Given the description of an element on the screen output the (x, y) to click on. 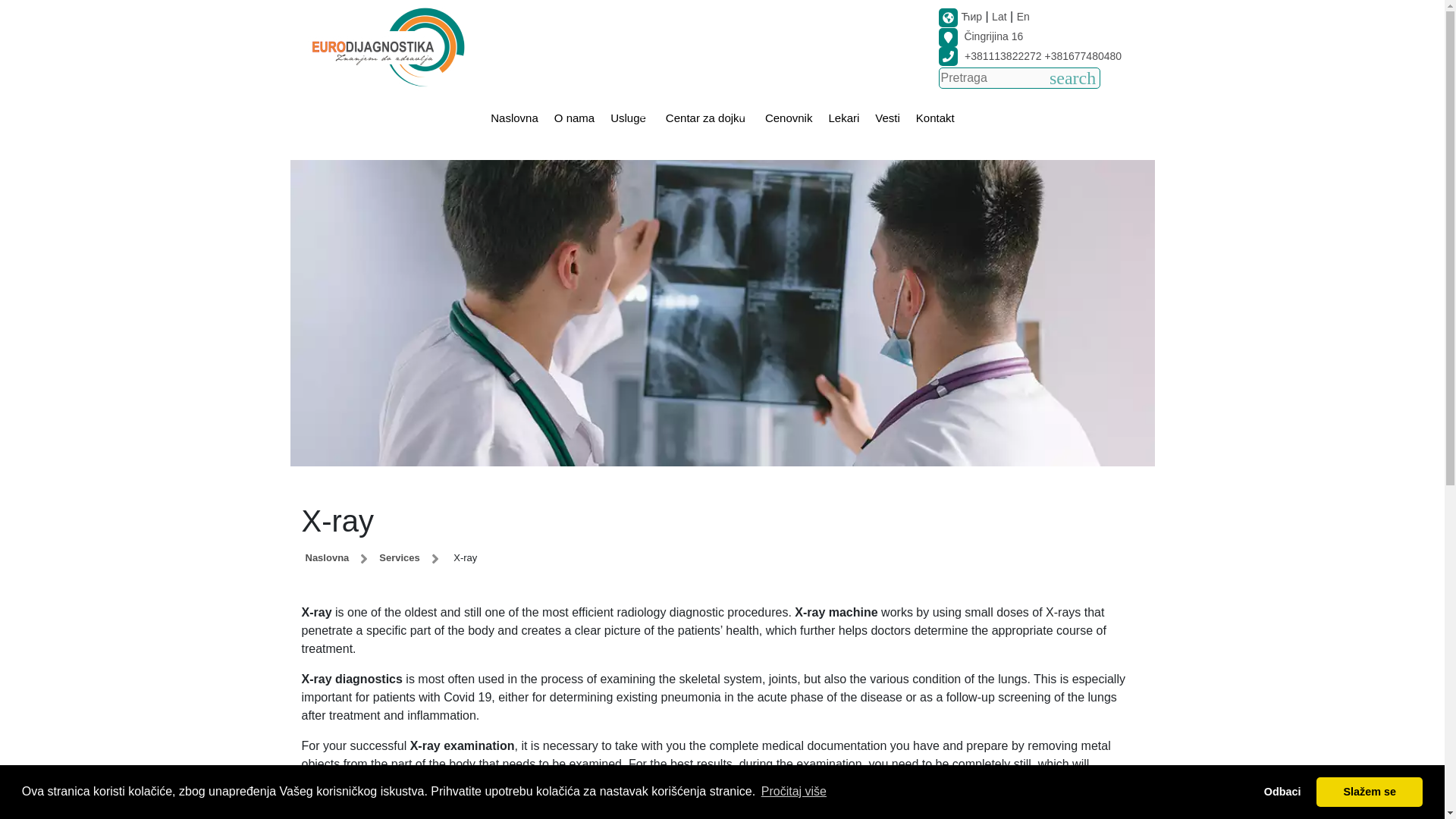
Centar za dojku (707, 117)
Usluge (630, 117)
Eurodijagnostika (387, 46)
Lekari (842, 117)
Cenovnik (789, 117)
search (1072, 77)
Naslovna (513, 117)
Odbaci (1282, 791)
O nama (574, 117)
